Given the description of an element on the screen output the (x, y) to click on. 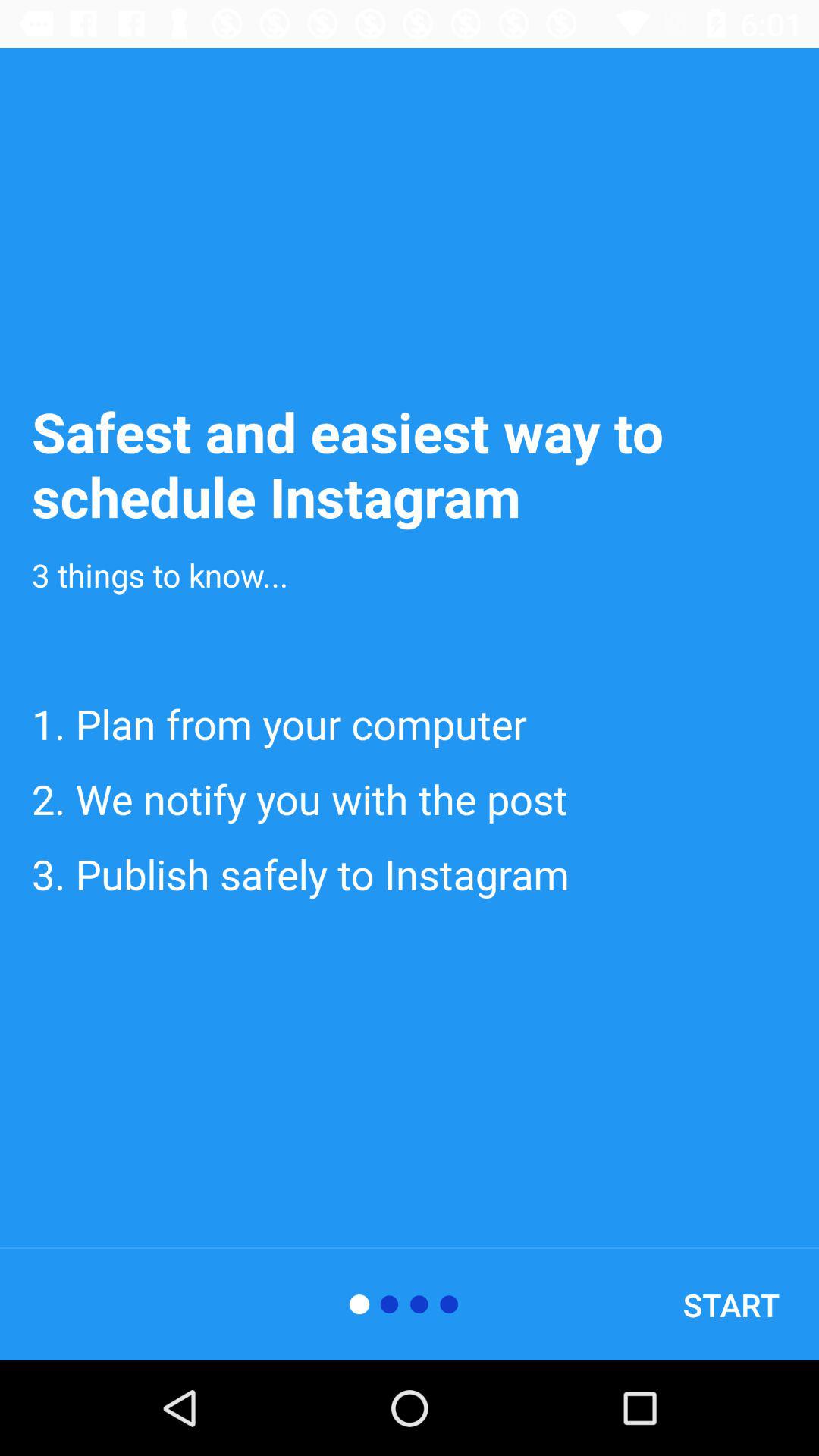
press icon at the bottom right corner (731, 1304)
